Given the description of an element on the screen output the (x, y) to click on. 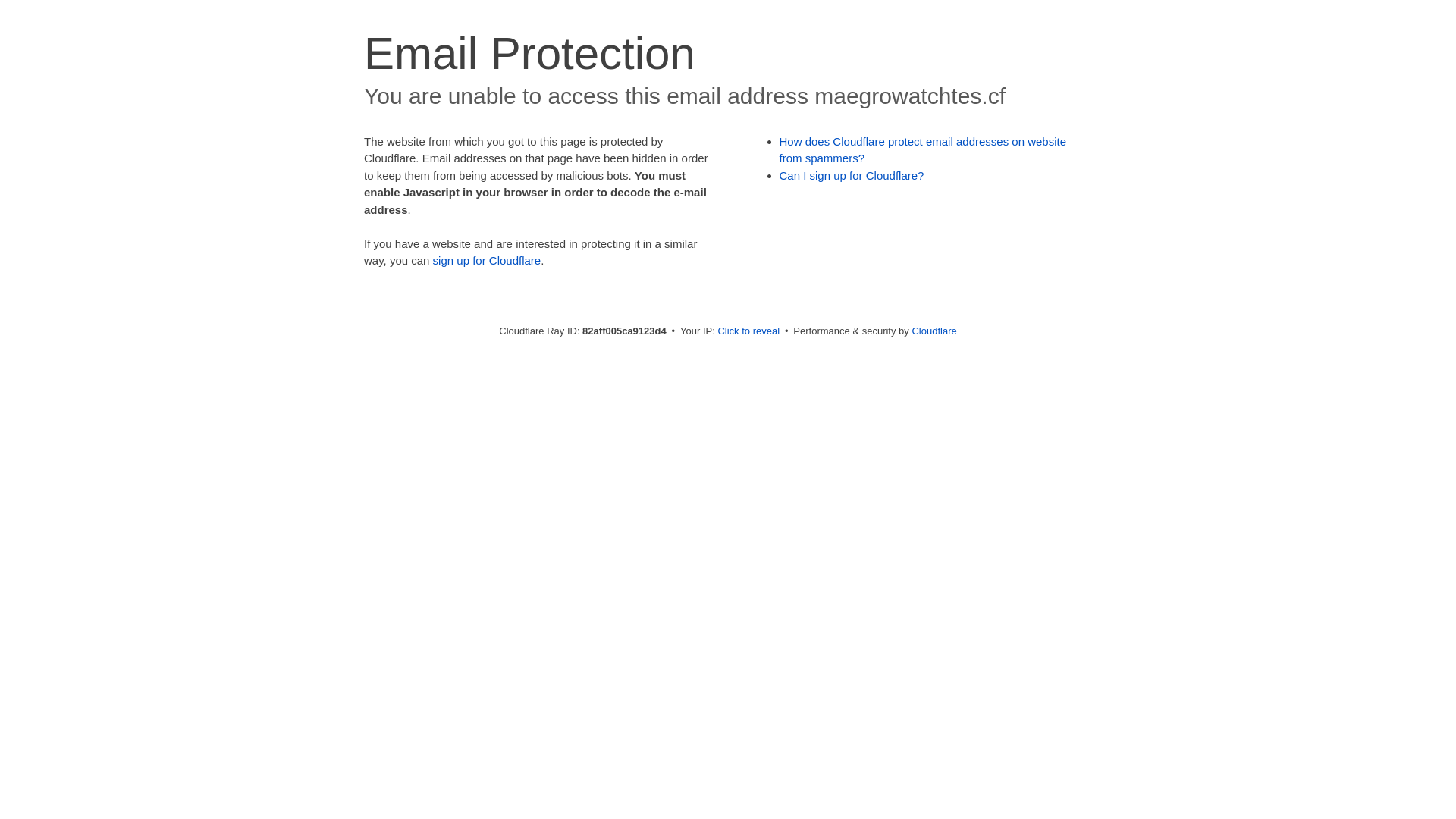
sign up for Cloudflare Element type: text (487, 260)
Cloudflare Element type: text (933, 330)
Can I sign up for Cloudflare? Element type: text (851, 175)
Click to reveal Element type: text (748, 330)
